Given the description of an element on the screen output the (x, y) to click on. 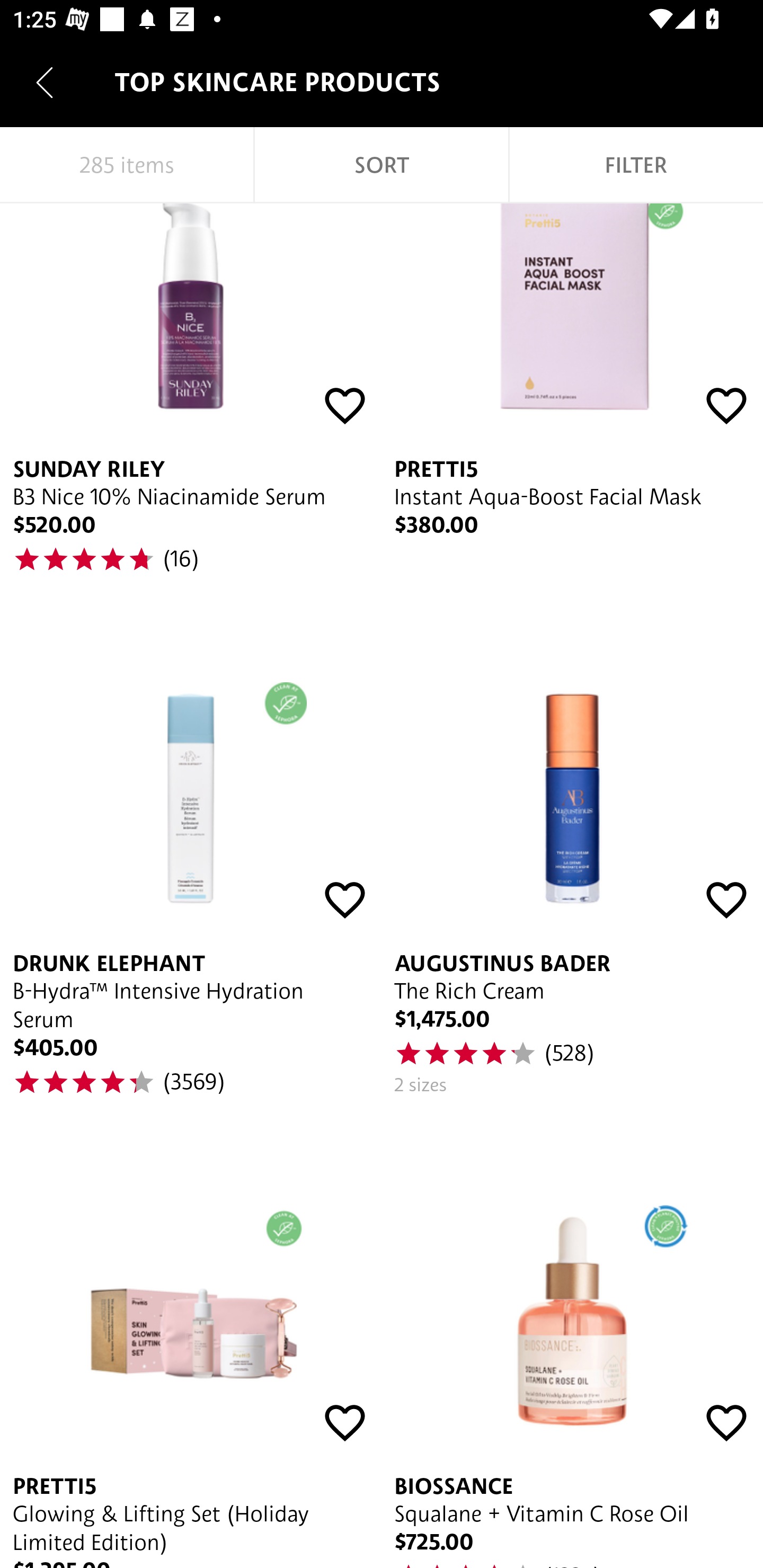
Navigate up (44, 82)
SORT (381, 165)
FILTER (636, 165)
PRETTI5 Instant Aqua-Boost Facial Mask $380.00 (572, 408)
